Given the description of an element on the screen output the (x, y) to click on. 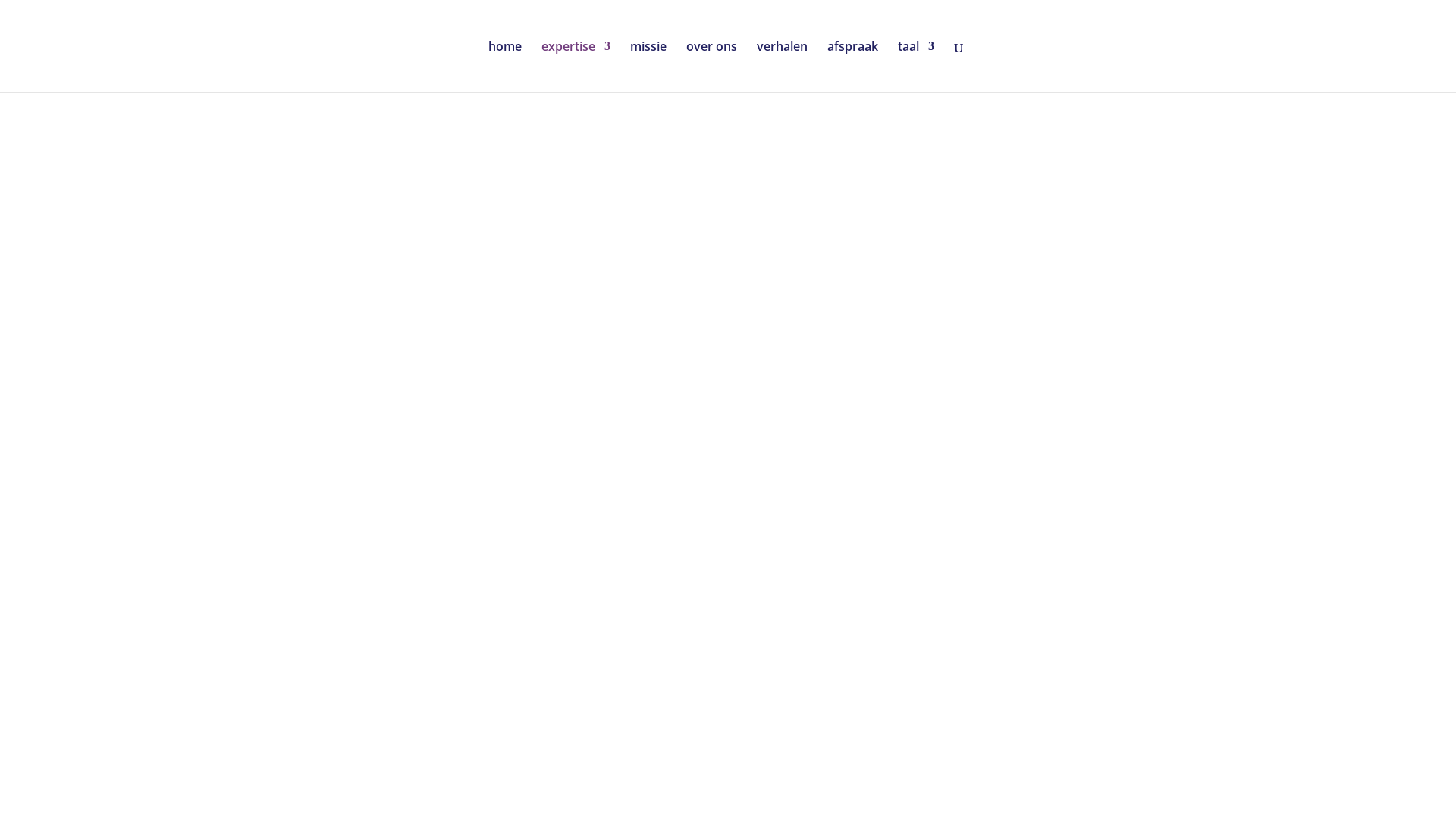
taal Element type: text (915, 65)
over ons Element type: text (711, 65)
afspraak Element type: text (852, 65)
expertise Element type: text (575, 65)
missie Element type: text (648, 65)
home Element type: text (504, 65)
verhalen Element type: text (781, 65)
